Given the description of an element on the screen output the (x, y) to click on. 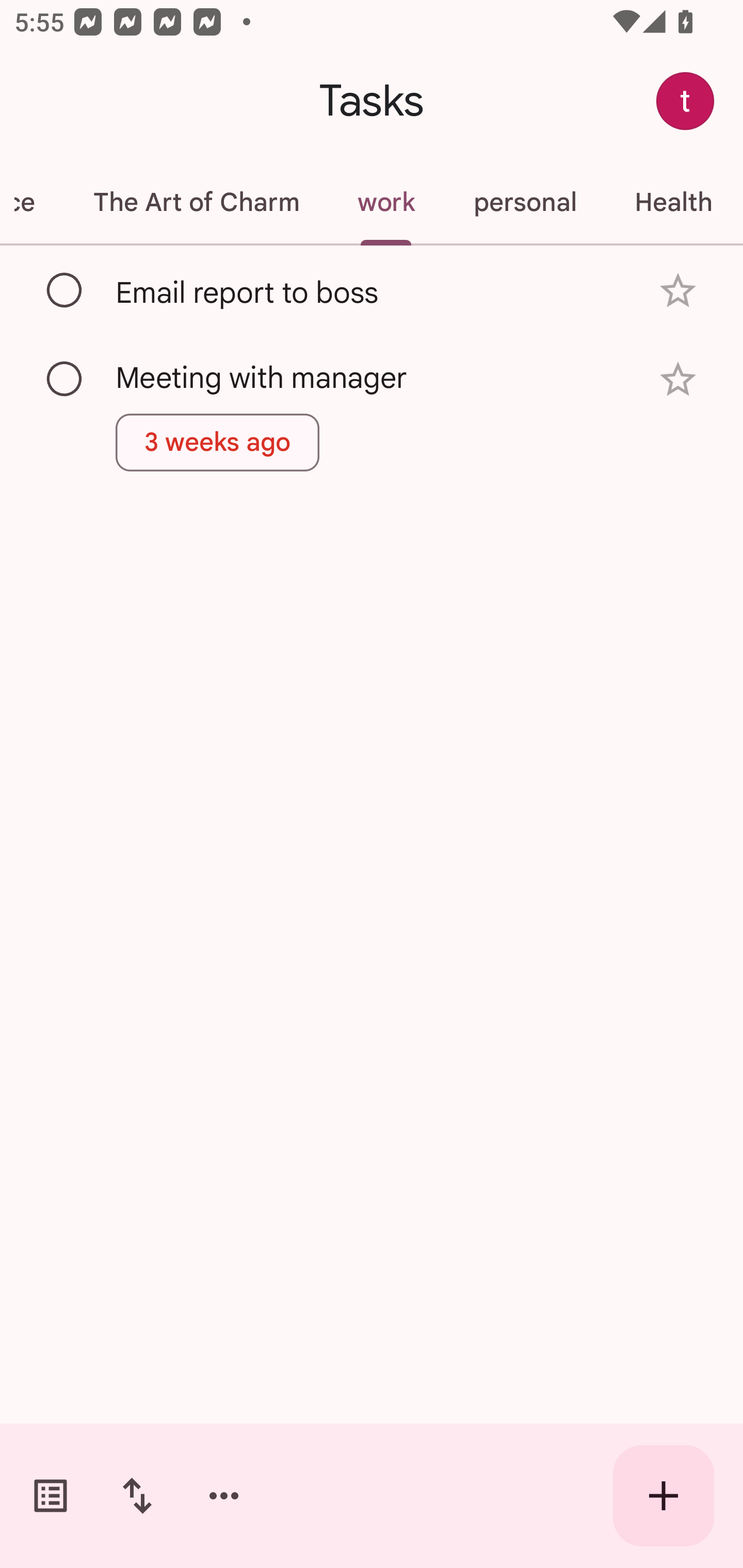
The Art of Charm (195, 202)
personal (524, 202)
Health (673, 202)
Add star (677, 290)
Mark as complete (64, 290)
Add star (677, 379)
Mark as complete (64, 379)
3 weeks ago (217, 442)
Switch task lists (50, 1495)
Create new task (663, 1495)
Change sort order (136, 1495)
More options (223, 1495)
